Given the description of an element on the screen output the (x, y) to click on. 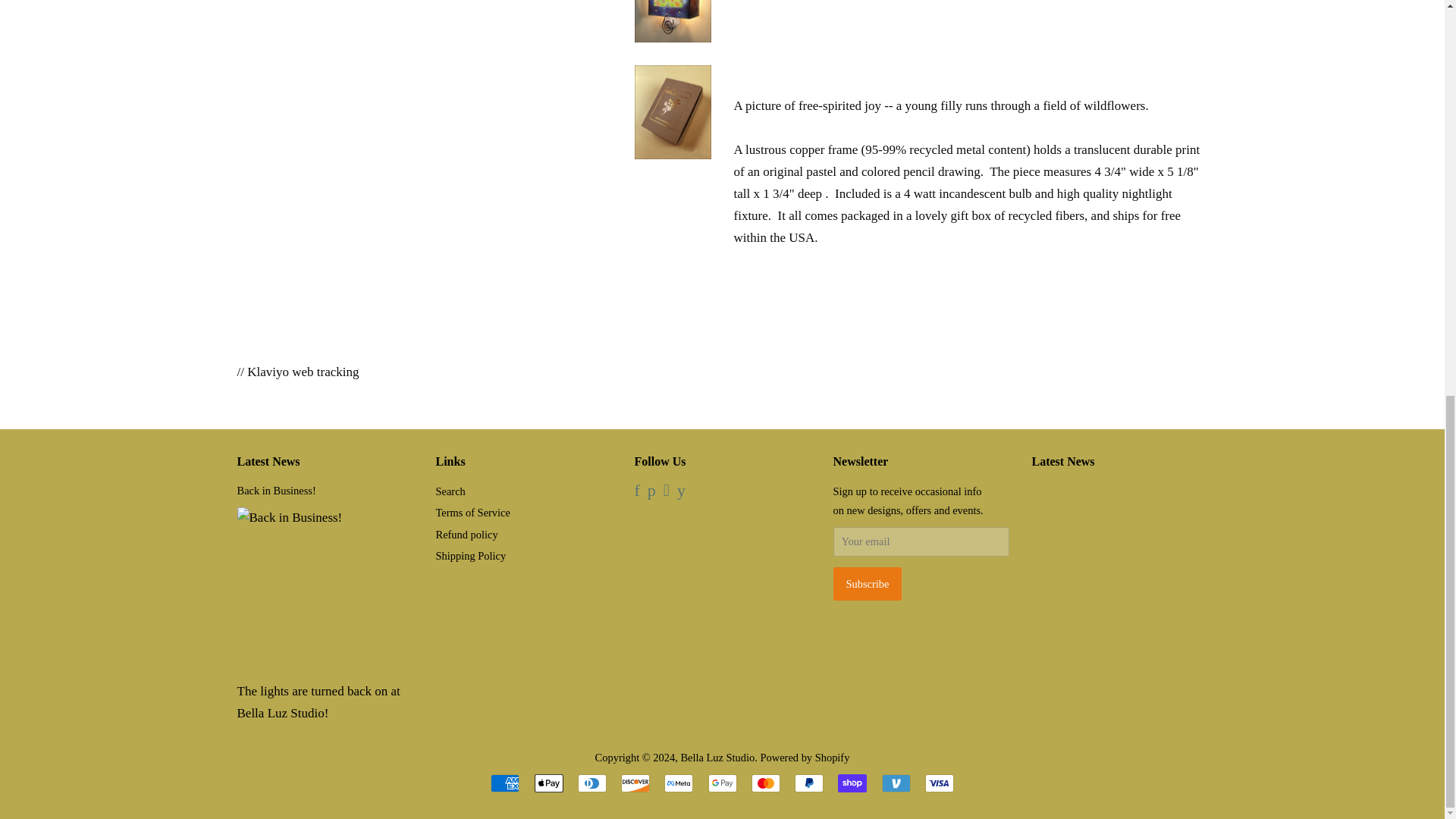
Venmo (895, 782)
Mastercard (765, 782)
Shop Pay (852, 782)
American Express (504, 782)
Visa (938, 782)
Subscribe (866, 583)
Discover (635, 782)
Google Pay (721, 782)
Diners Club (592, 782)
Meta Pay (678, 782)
